Given the description of an element on the screen output the (x, y) to click on. 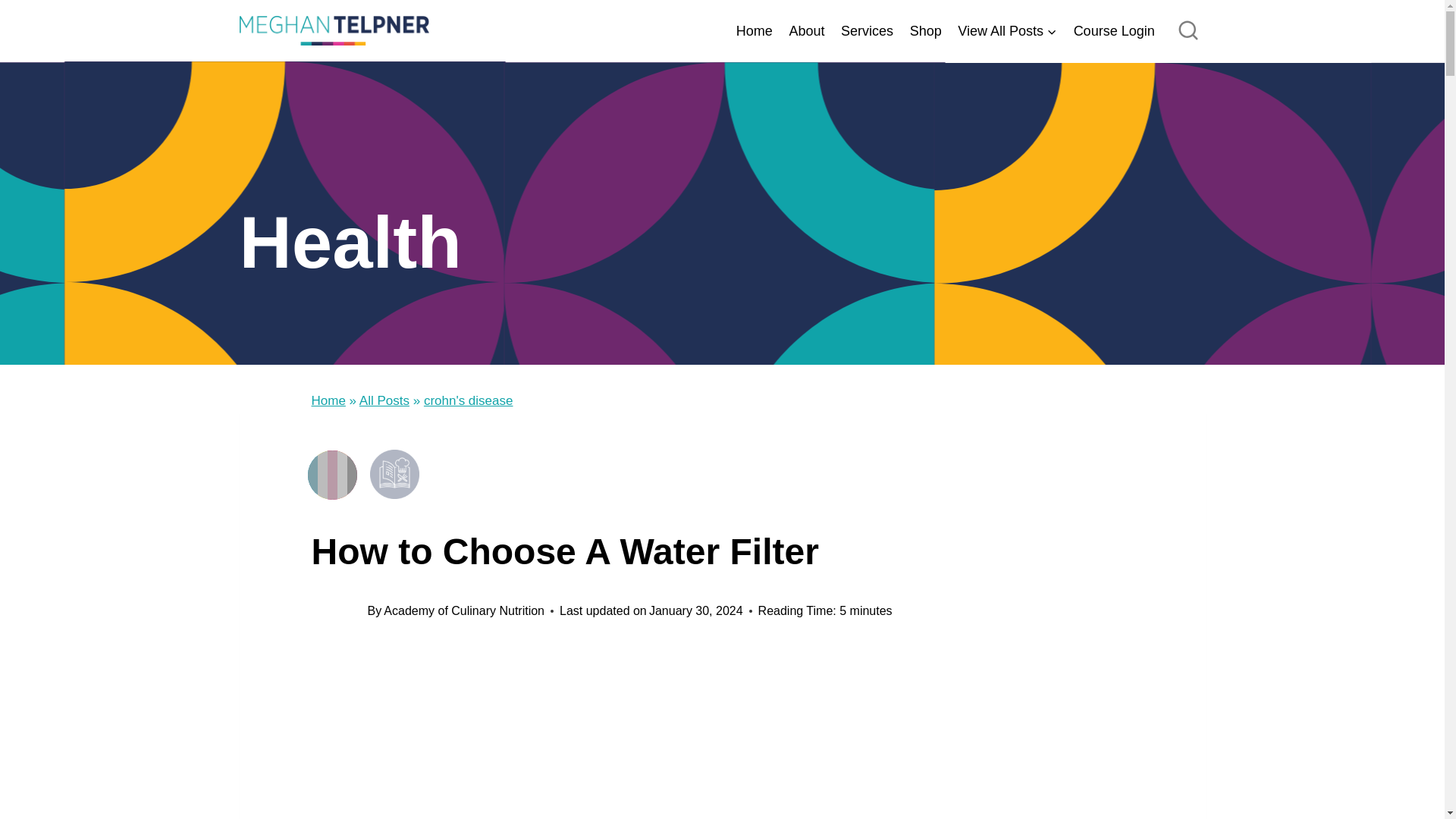
All Posts (384, 400)
Ecological Care (695, 468)
View All Posts (1006, 30)
Business (575, 468)
Beauty (455, 468)
Family Health (756, 468)
Services (866, 30)
Home (754, 30)
Healthy Home (937, 468)
All Posts (331, 474)
